Given the description of an element on the screen output the (x, y) to click on. 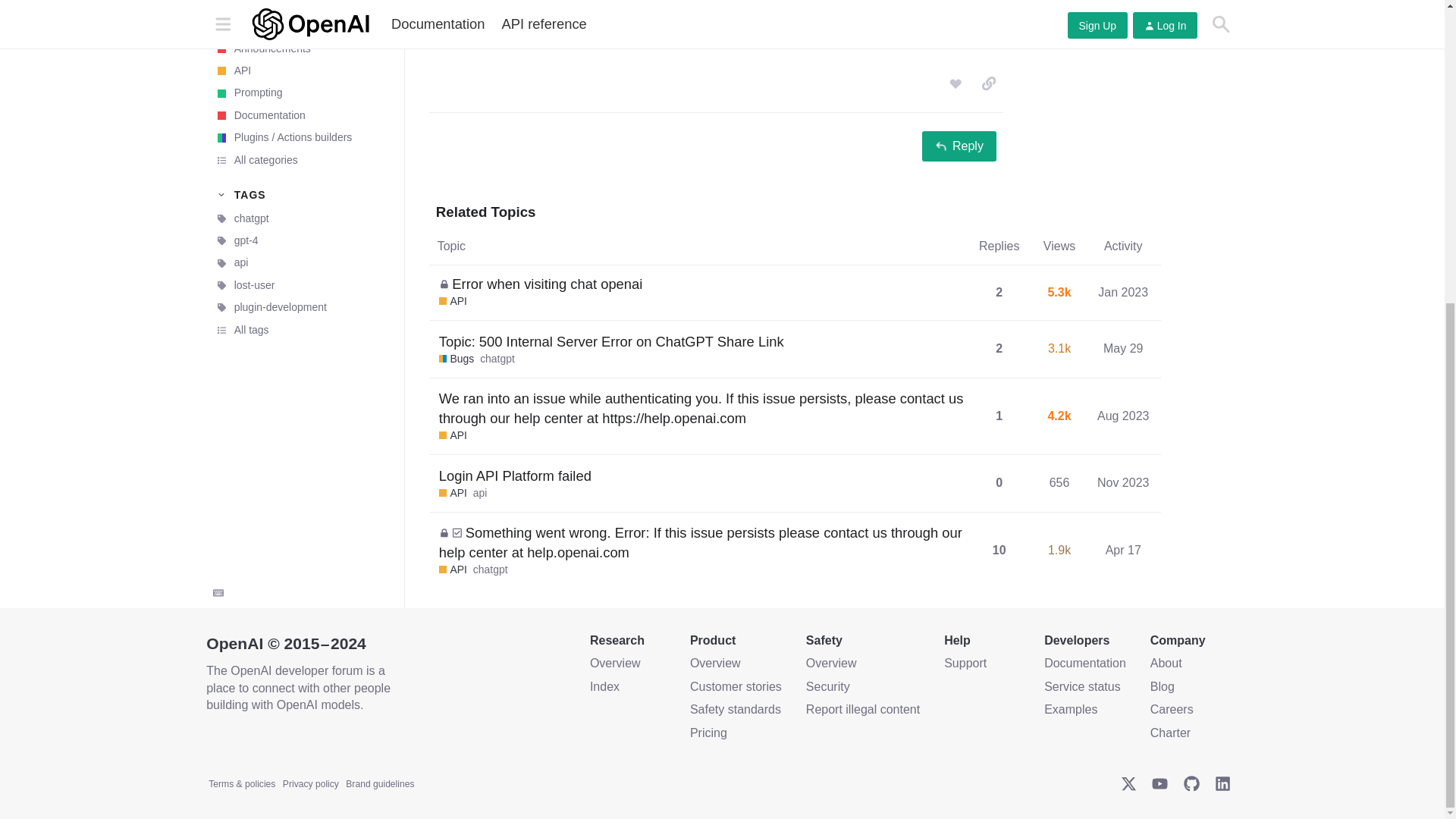
api (301, 5)
lost-user (301, 23)
plugin-development (301, 45)
All tags (301, 67)
